Given the description of an element on the screen output the (x, y) to click on. 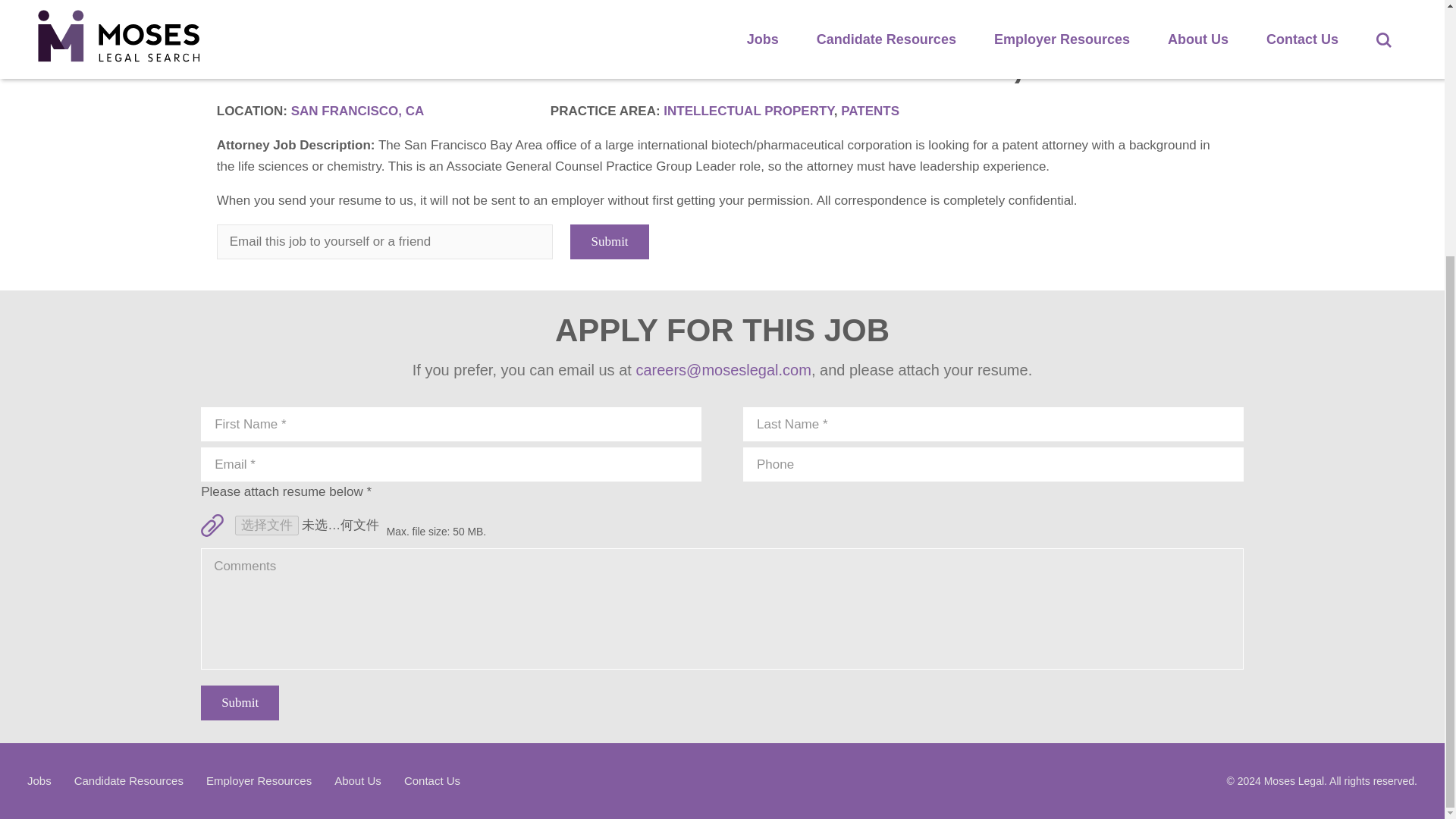
Back to results (270, 23)
INTELLECTUAL PROPERTY (747, 110)
Employer Resources (258, 780)
Submit (608, 241)
Submit (239, 702)
Jobs (38, 780)
SAN FRANCISCO, CA (358, 110)
Contact Us (432, 780)
PATENTS (870, 110)
Candidate Resources (128, 780)
About Us (357, 780)
